Given the description of an element on the screen output the (x, y) to click on. 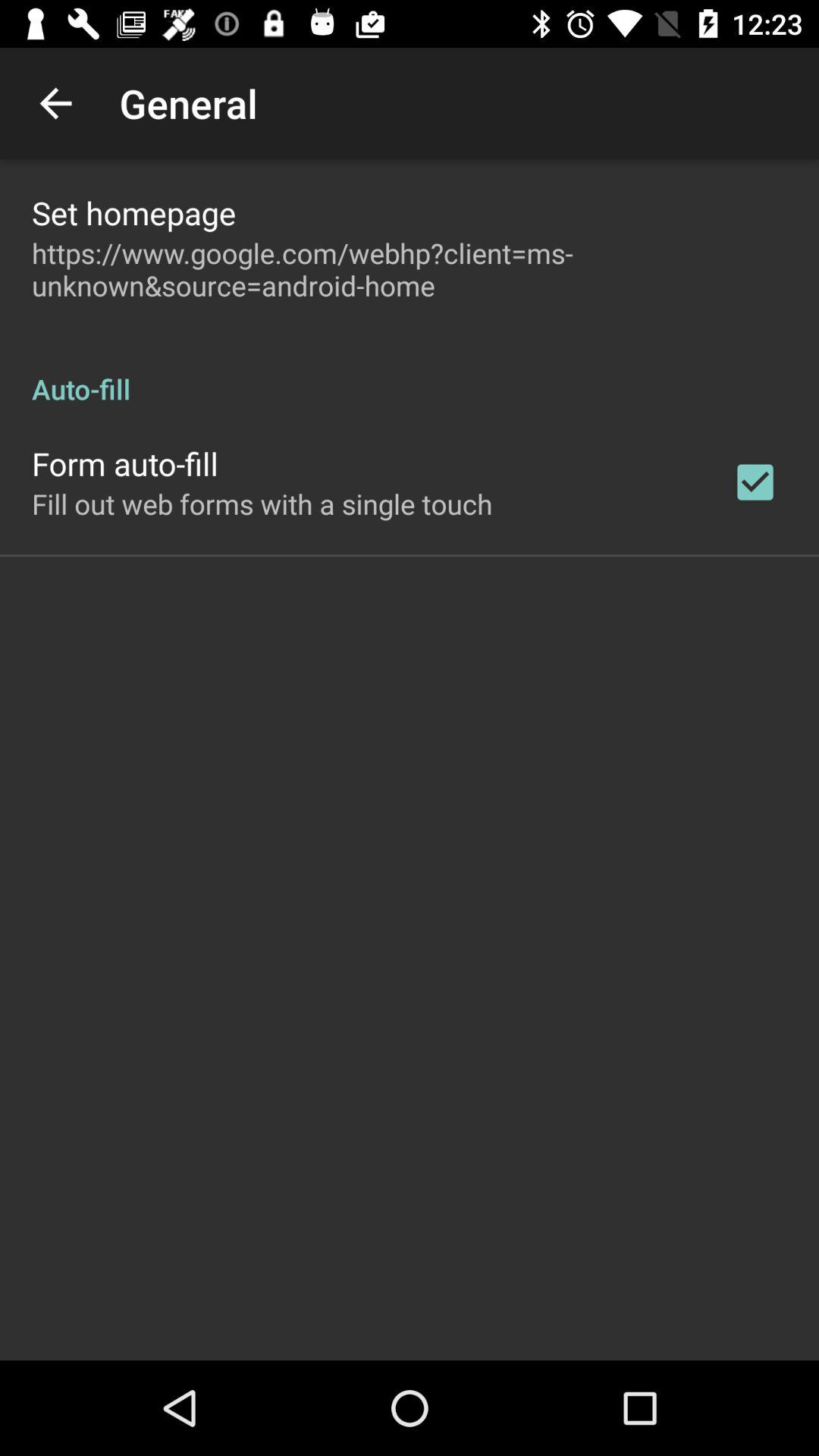
tap the app below the set homepage item (409, 269)
